Given the description of an element on the screen output the (x, y) to click on. 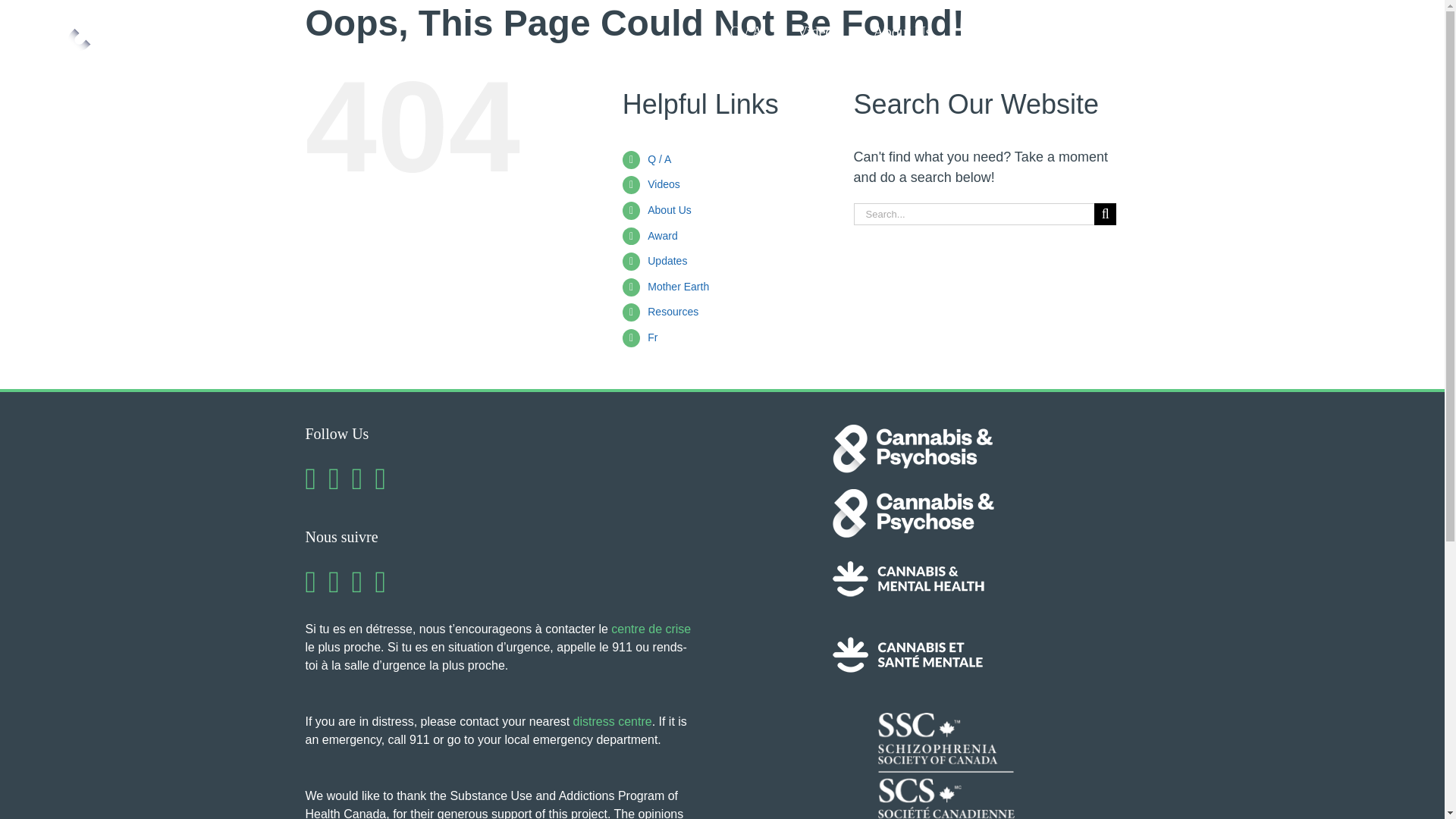
Mother Earth (1164, 31)
About Us (901, 31)
Updates (1064, 31)
Resources (1270, 31)
